Given the description of an element on the screen output the (x, y) to click on. 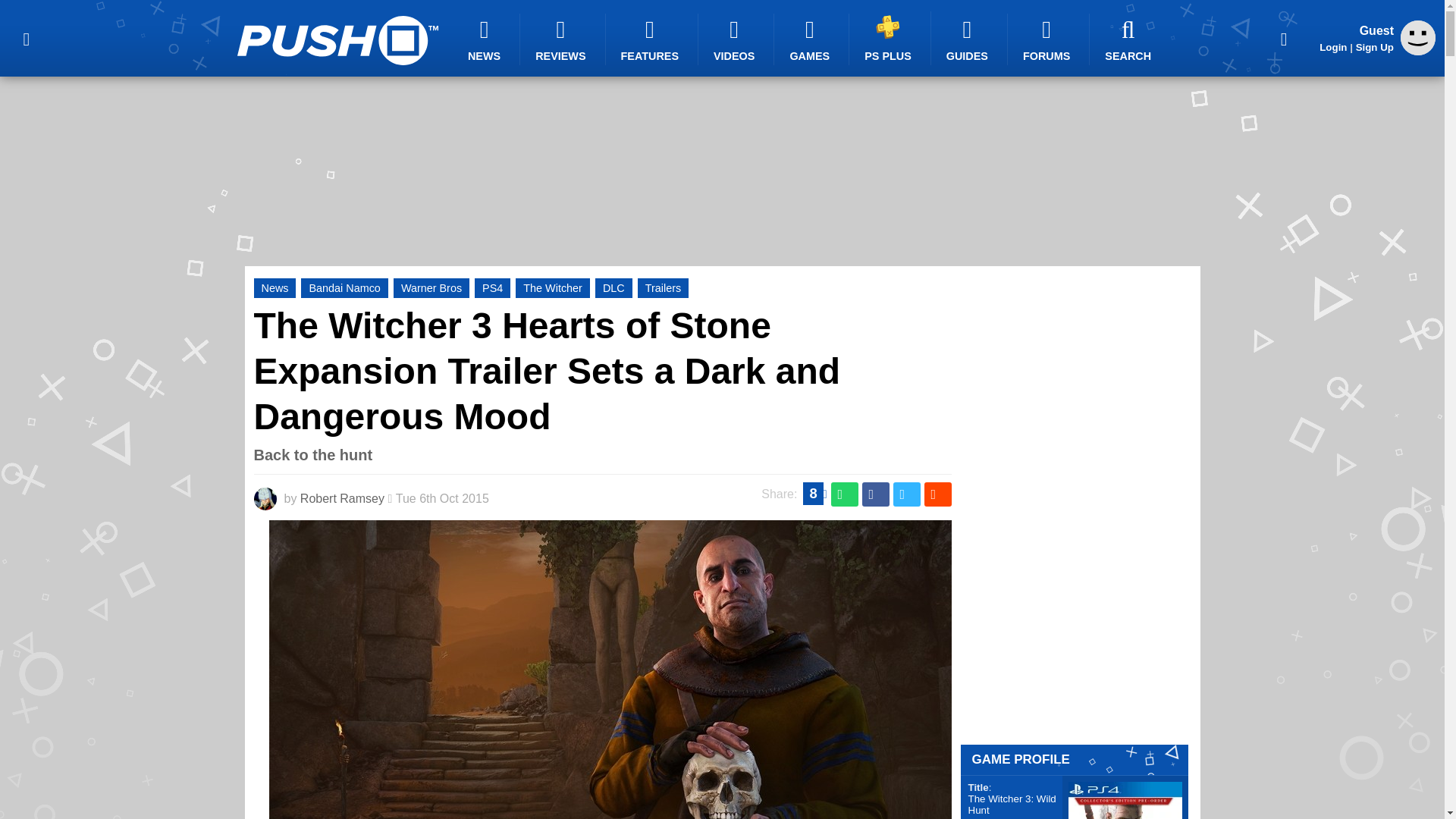
REVIEWS (562, 39)
PS4 (492, 288)
GAMES (811, 39)
FORUMS (1048, 39)
Warner Bros (430, 288)
FEATURES (651, 39)
The Witcher (552, 288)
News (274, 288)
Share this on Facebook (874, 494)
Sign Up (1374, 47)
